Given the description of an element on the screen output the (x, y) to click on. 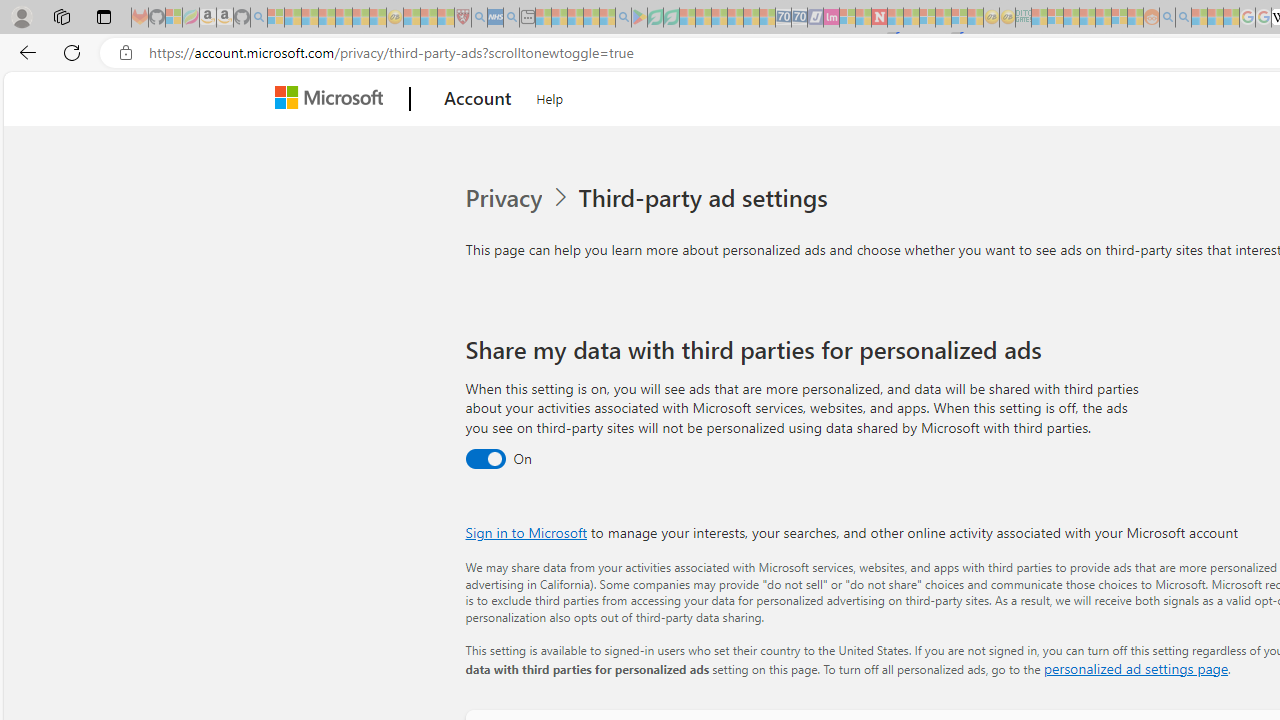
Account (477, 99)
